Given the description of an element on the screen output the (x, y) to click on. 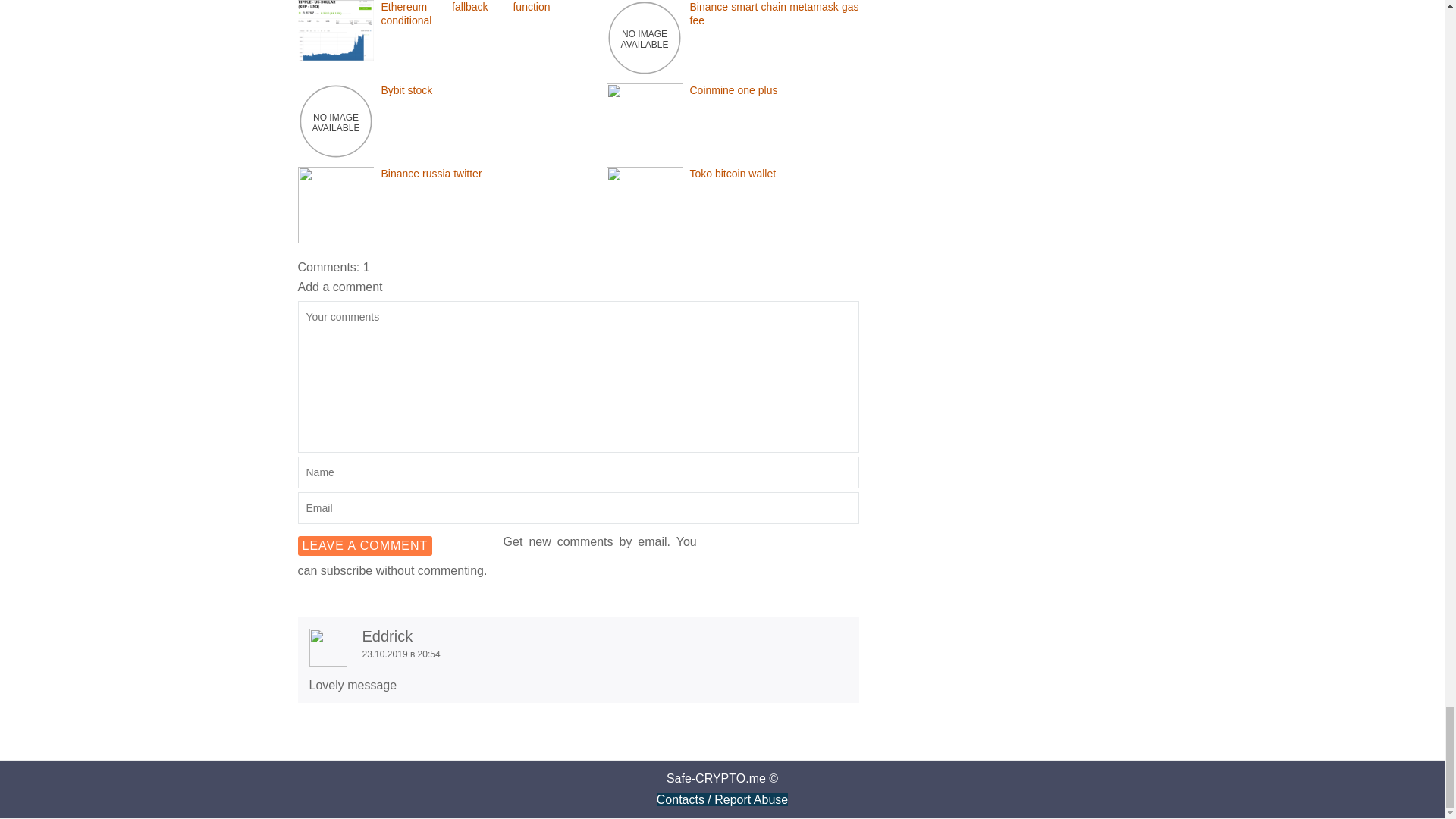
Binance smart chain metamask gas fee (644, 36)
Toko bitcoin wallet (644, 317)
Ethereum fallback function conditional (423, 13)
Toko bitcoin wallet (733, 173)
Coinmine one plus (733, 90)
Ethereum fallback function conditional (423, 13)
Binance russia twitter (334, 317)
yes (396, 541)
Bybit stock (334, 119)
Coinmine one plus (644, 233)
